Given the description of an element on the screen output the (x, y) to click on. 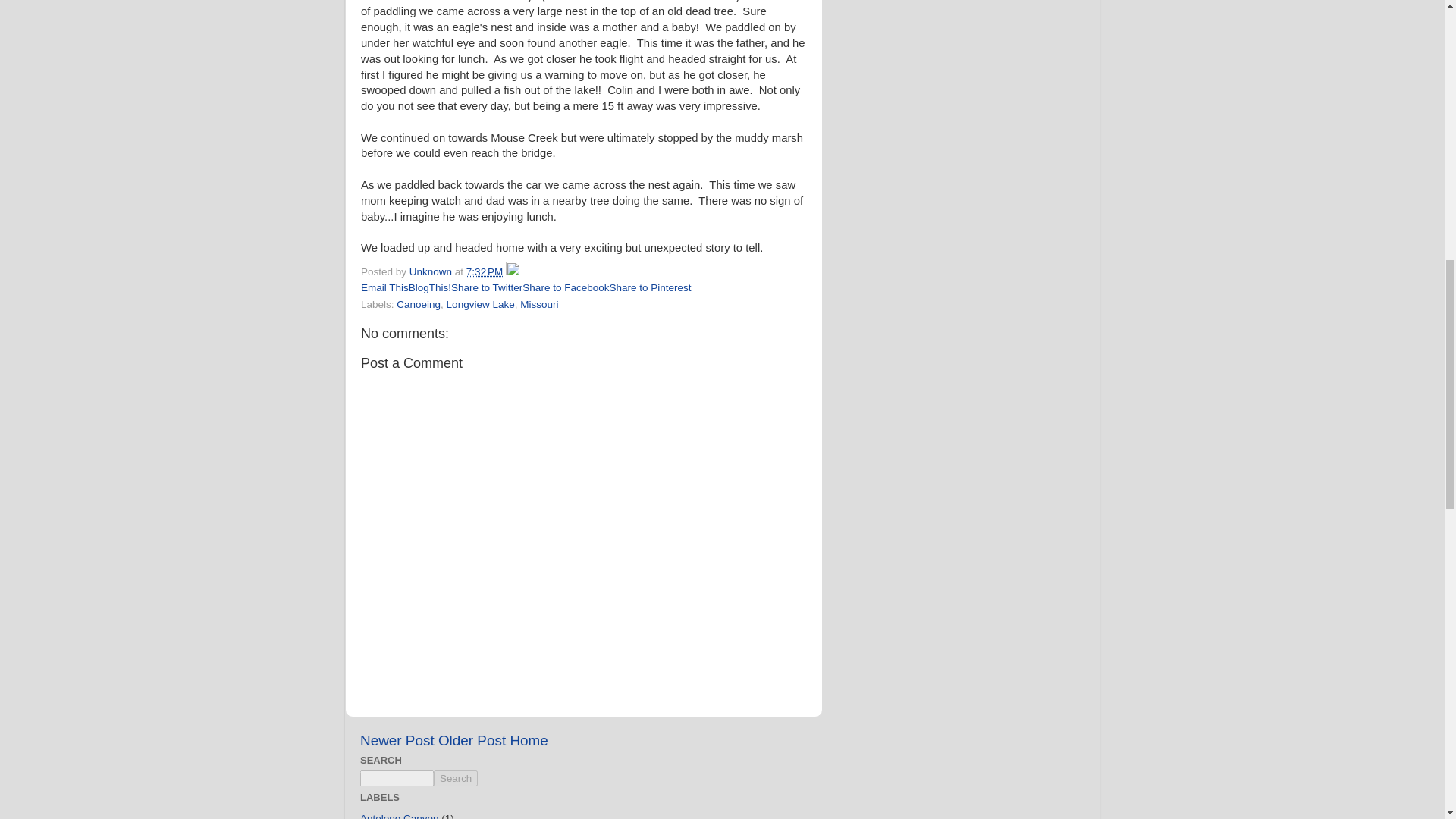
Share to Pinterest (649, 287)
Edit Post (512, 271)
Older Post (471, 740)
Email This (385, 287)
Share to Pinterest (649, 287)
search (396, 778)
search (455, 778)
Newer Post (396, 740)
permanent link (483, 271)
author profile (431, 271)
Missouri (538, 304)
Share to Facebook (565, 287)
Share to Twitter (486, 287)
Older Post (471, 740)
